Given the description of an element on the screen output the (x, y) to click on. 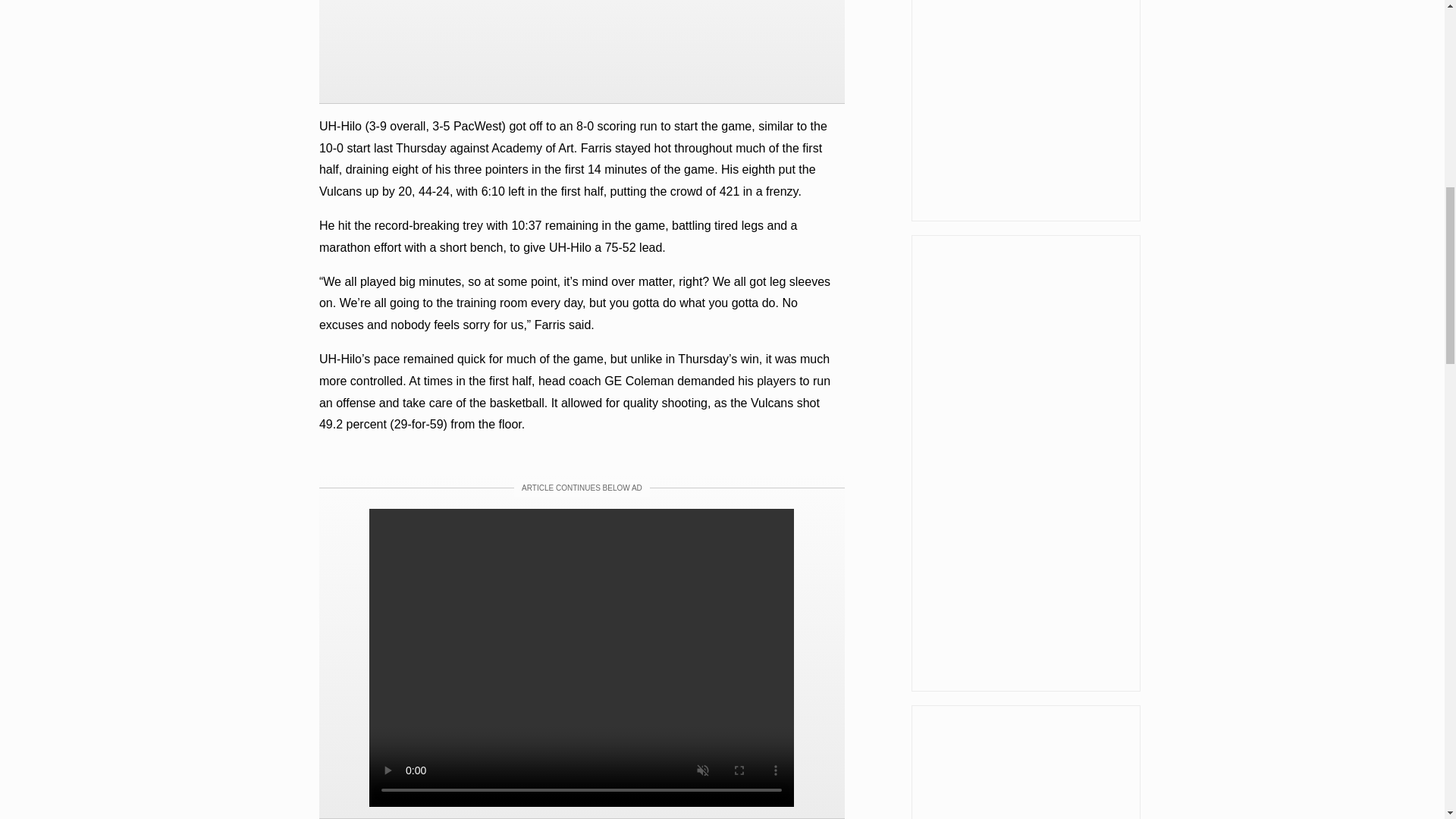
3rd party ad content (1025, 110)
Arrow Up (1404, 15)
3rd party ad content (1025, 463)
3rd party ad content (581, 45)
3rd party ad content (1025, 762)
